Given the description of an element on the screen output the (x, y) to click on. 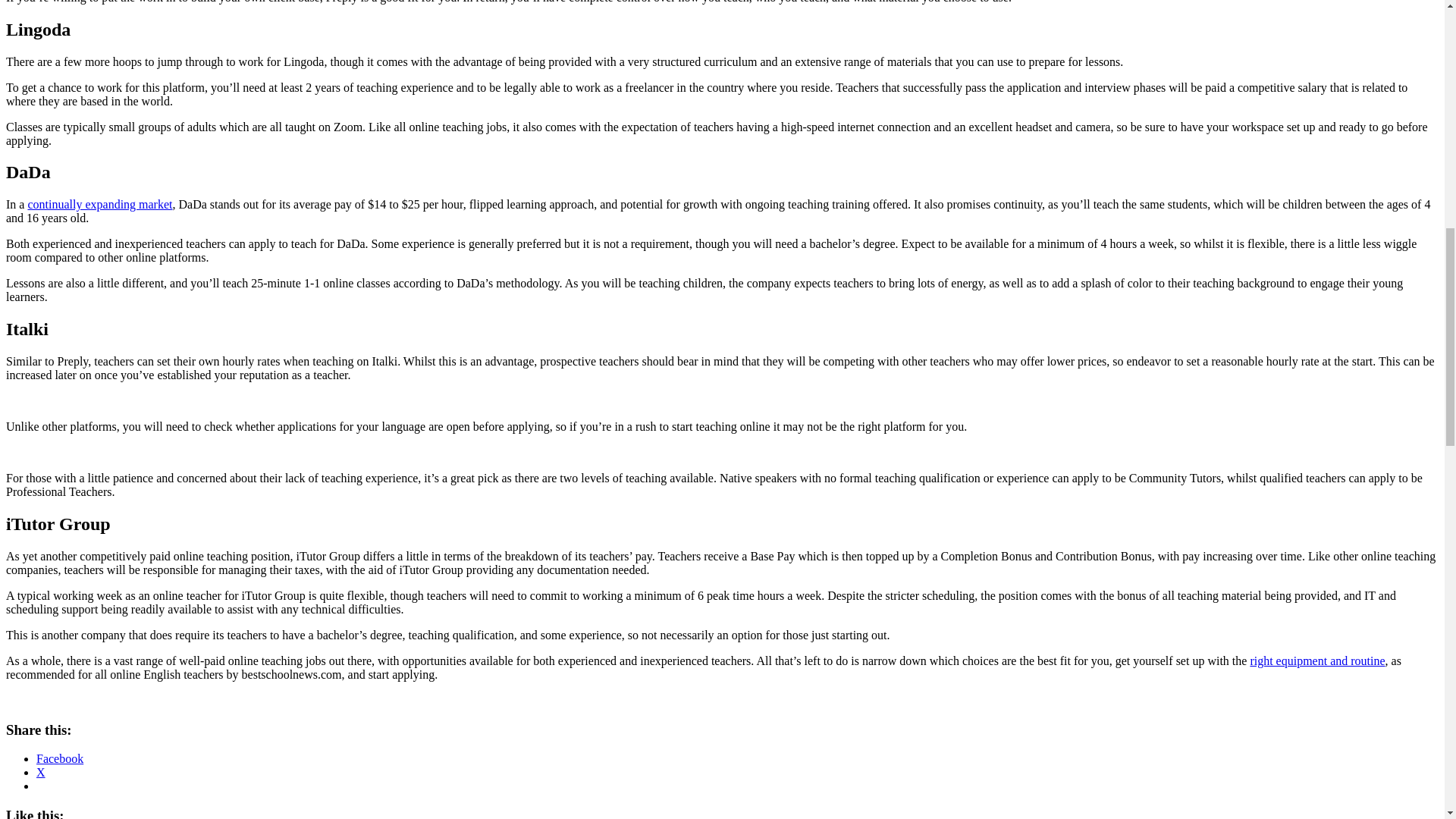
Facebook (59, 758)
continually expanding market (99, 204)
Click to share on Facebook (59, 758)
right equipment and routine (1316, 660)
